Given the description of an element on the screen output the (x, y) to click on. 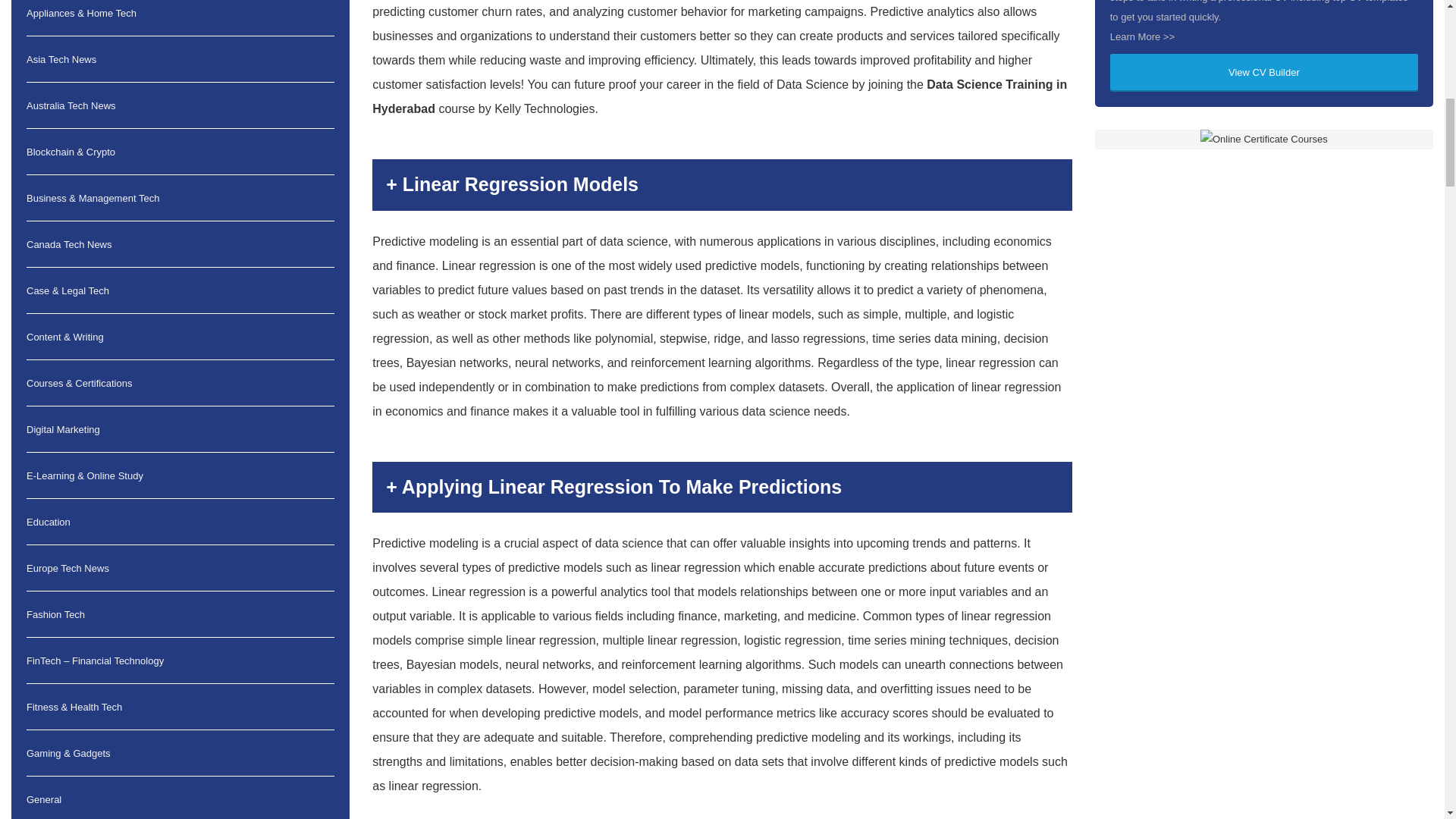
View CV Builder (1263, 72)
